Given the description of an element on the screen output the (x, y) to click on. 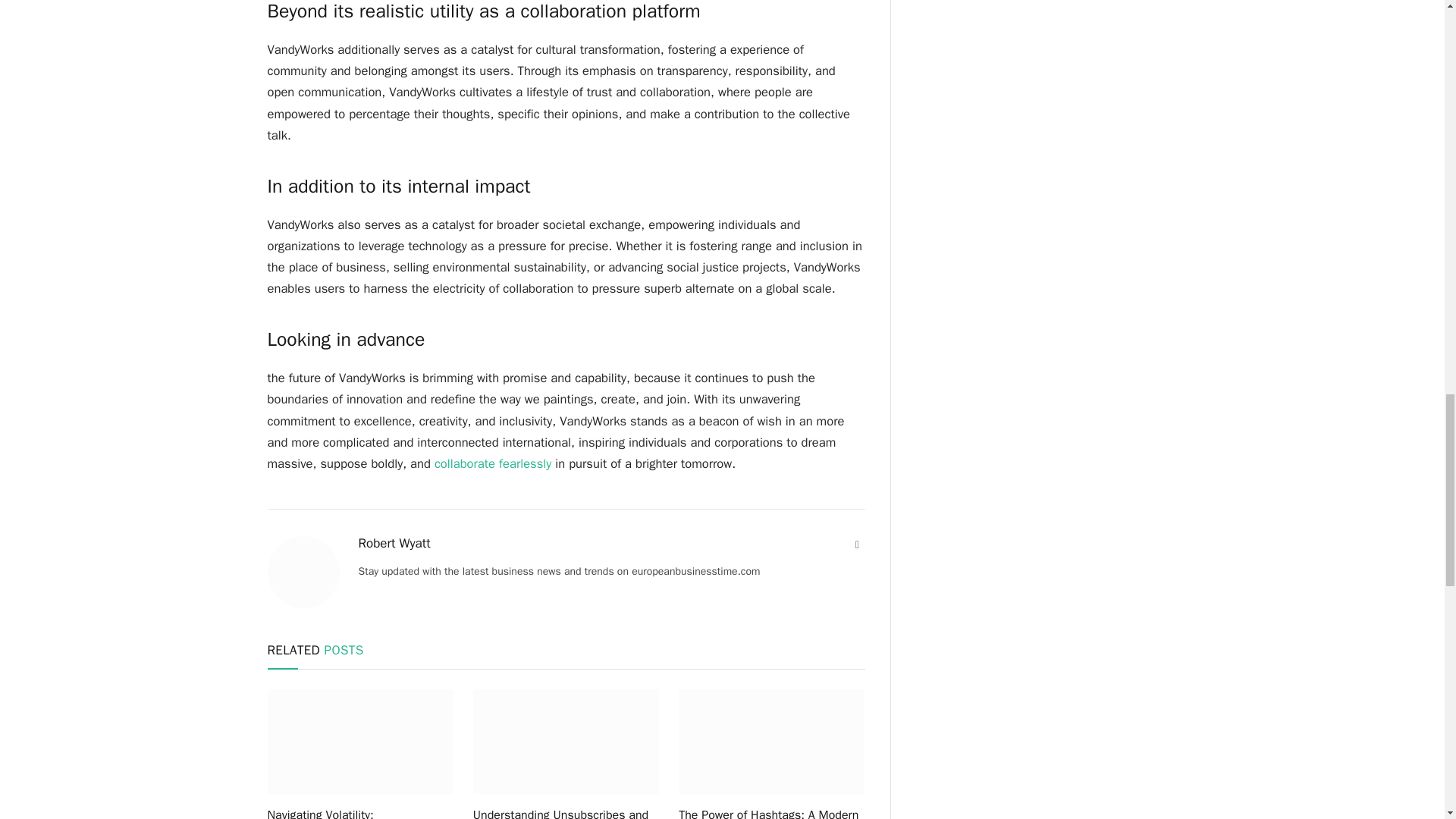
collaborate fearlessly (492, 463)
Website (856, 544)
Navigating Volatility: Understanding Share Price Movements (359, 812)
Posts by Robert Wyatt (393, 543)
Website (856, 544)
Robert Wyatt (393, 543)
